Given the description of an element on the screen output the (x, y) to click on. 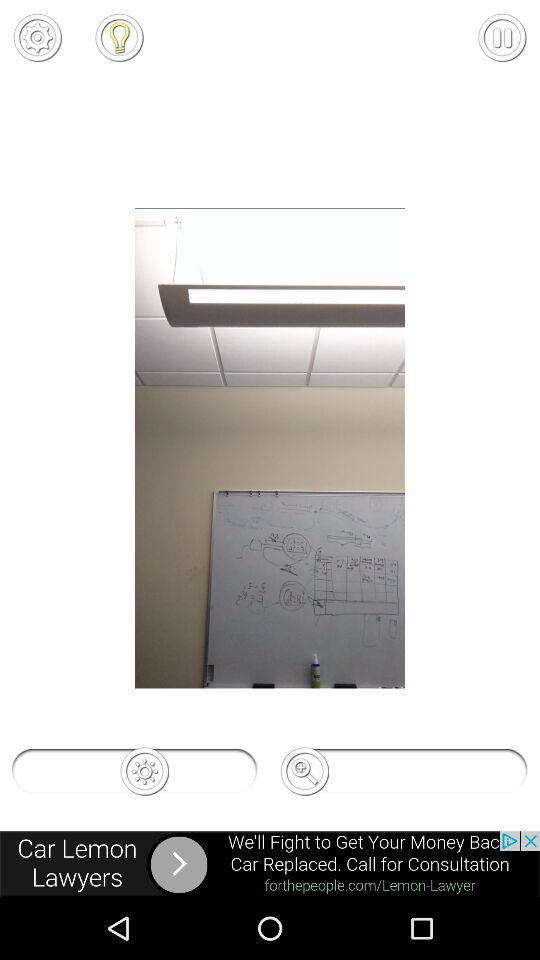
click to pause (502, 37)
